Given the description of an element on the screen output the (x, y) to click on. 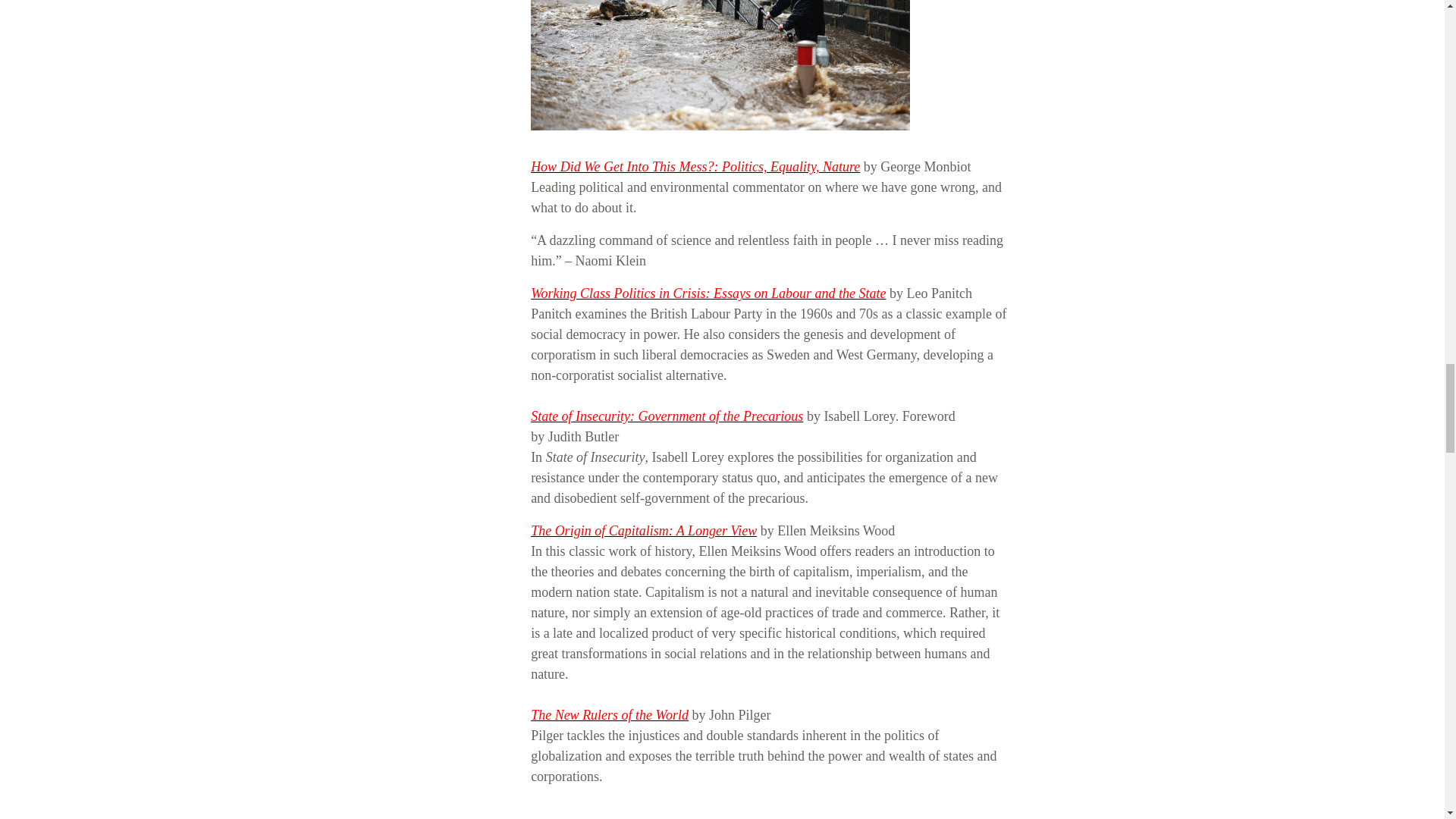
State of Insecurity: Government of the Precarious (667, 416)
The New Rulers of the World (609, 714)
The Origin of Capitalism: A Longer View (644, 530)
How Did We Get Into This Mess?: Politics, Equality, Nature (695, 166)
